Given the description of an element on the screen output the (x, y) to click on. 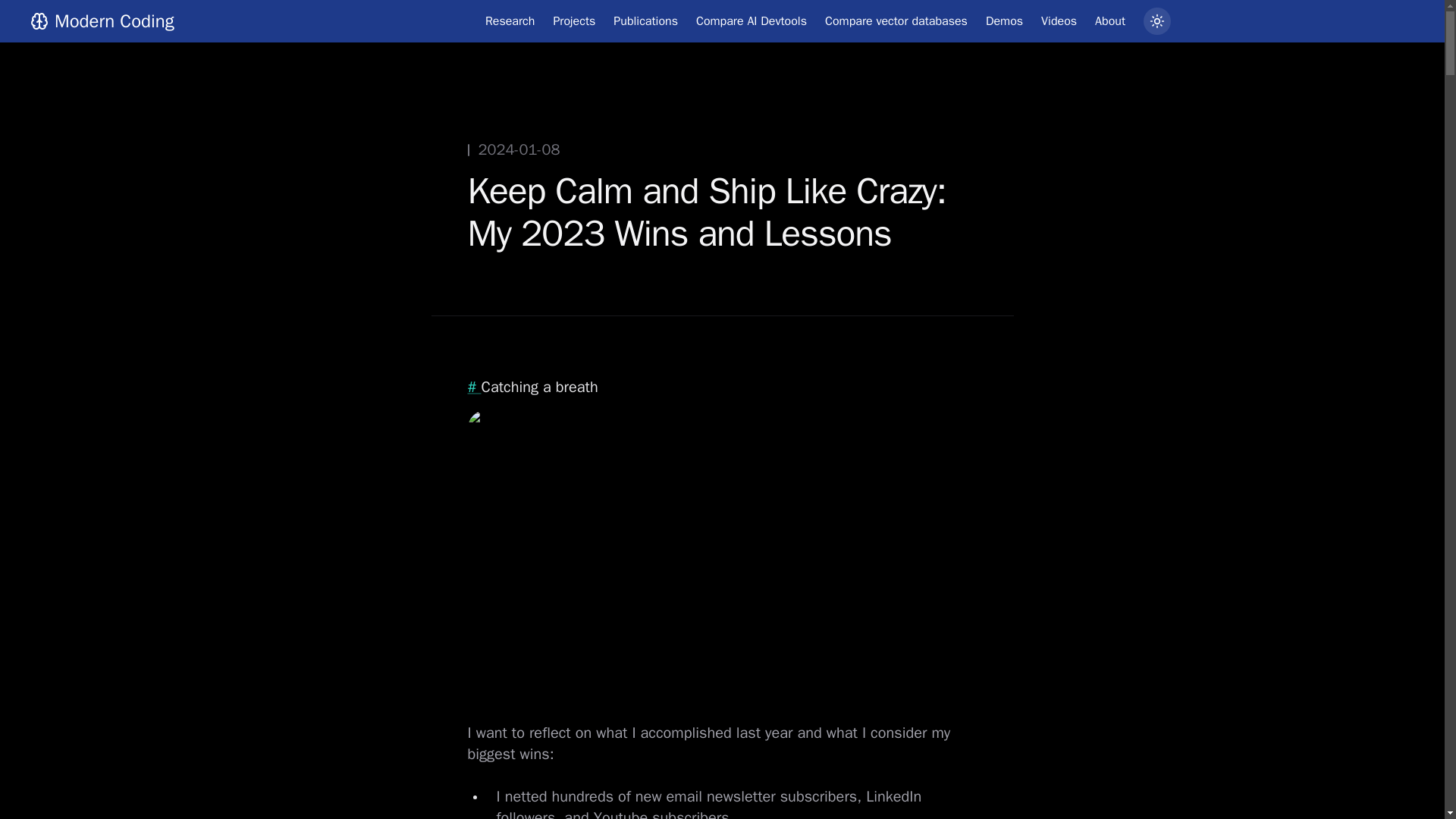
Compare AI Devtools (750, 21)
Compare vector databases (896, 21)
About (1109, 21)
Research (509, 21)
Publications (645, 21)
Videos (1059, 21)
Modern Coding (102, 21)
Demos (1004, 21)
Projects (574, 21)
